Given the description of an element on the screen output the (x, y) to click on. 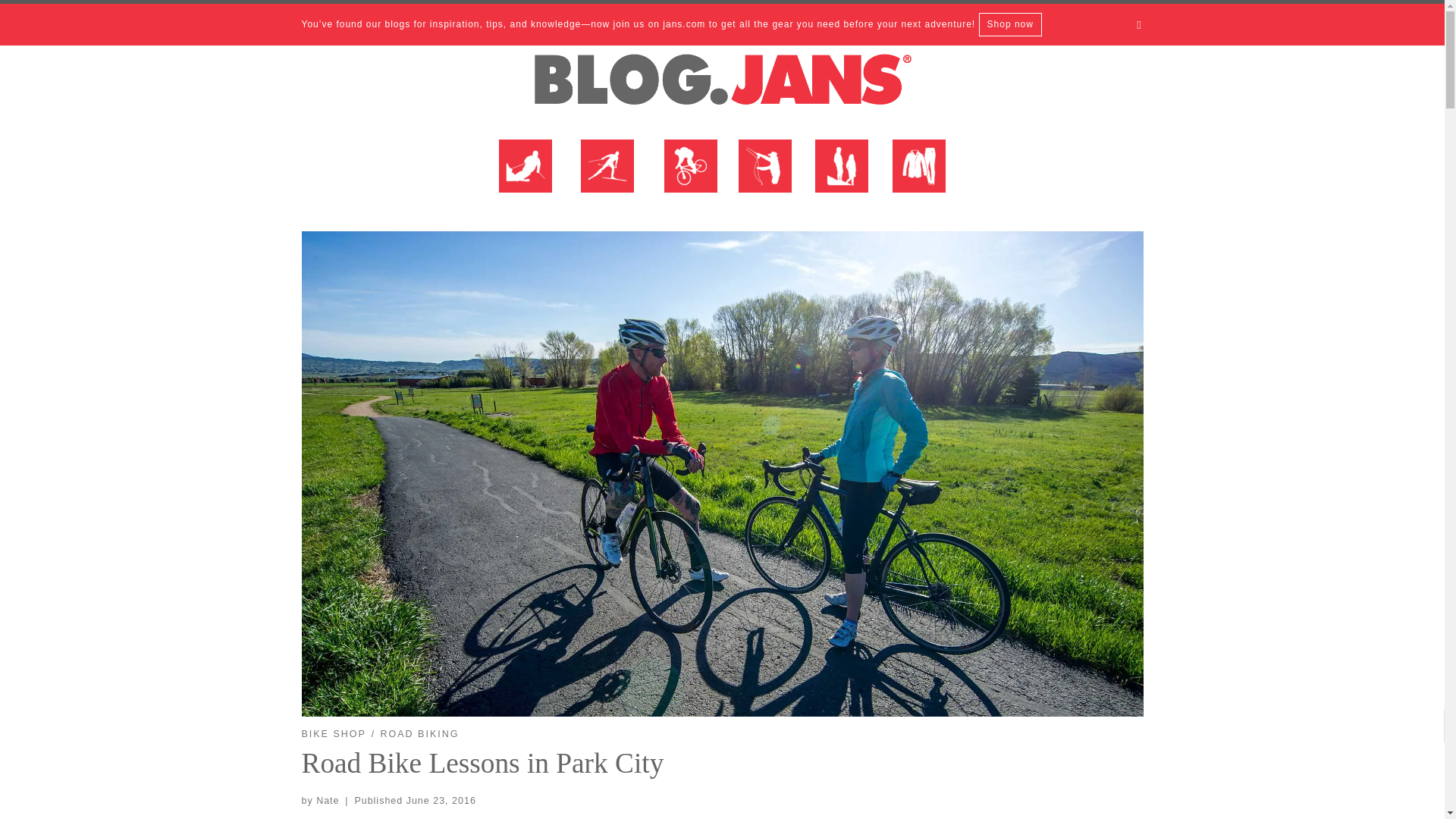
Nate (327, 800)
Ski Shop (526, 176)
Bike Shop (690, 176)
BIKE SHOP (690, 176)
Search (1138, 23)
View all posts in Road Biking (420, 734)
SKI SHOP (526, 176)
ROAD BIKING (420, 734)
Fly Shop (764, 176)
June 23, 2016 (441, 800)
View all posts in Bike Shop (333, 734)
CLOTHING (918, 176)
NORDIC SHOP (606, 176)
MTN ACTIVE (841, 176)
BIKE SHOP (333, 734)
